Given the description of an element on the screen output the (x, y) to click on. 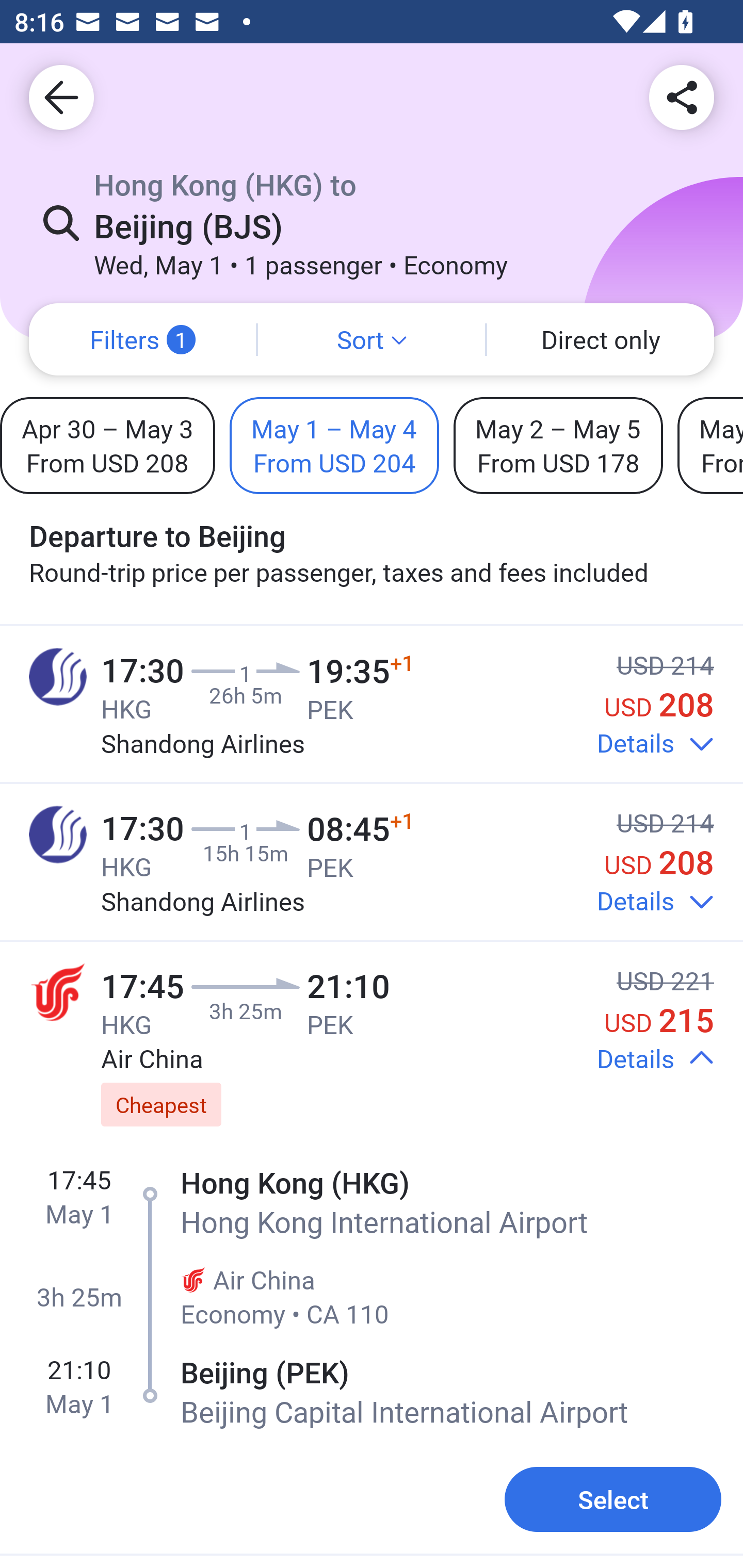
Filters 1 (141, 339)
Sort (371, 339)
Direct only (600, 339)
Apr 30 – May 3 From USD 208 (107, 444)
May 1 – May 4 From USD 204 (334, 444)
May 2 – May 5 From USD 178 (557, 444)
Select (612, 1499)
